Given the description of an element on the screen output the (x, y) to click on. 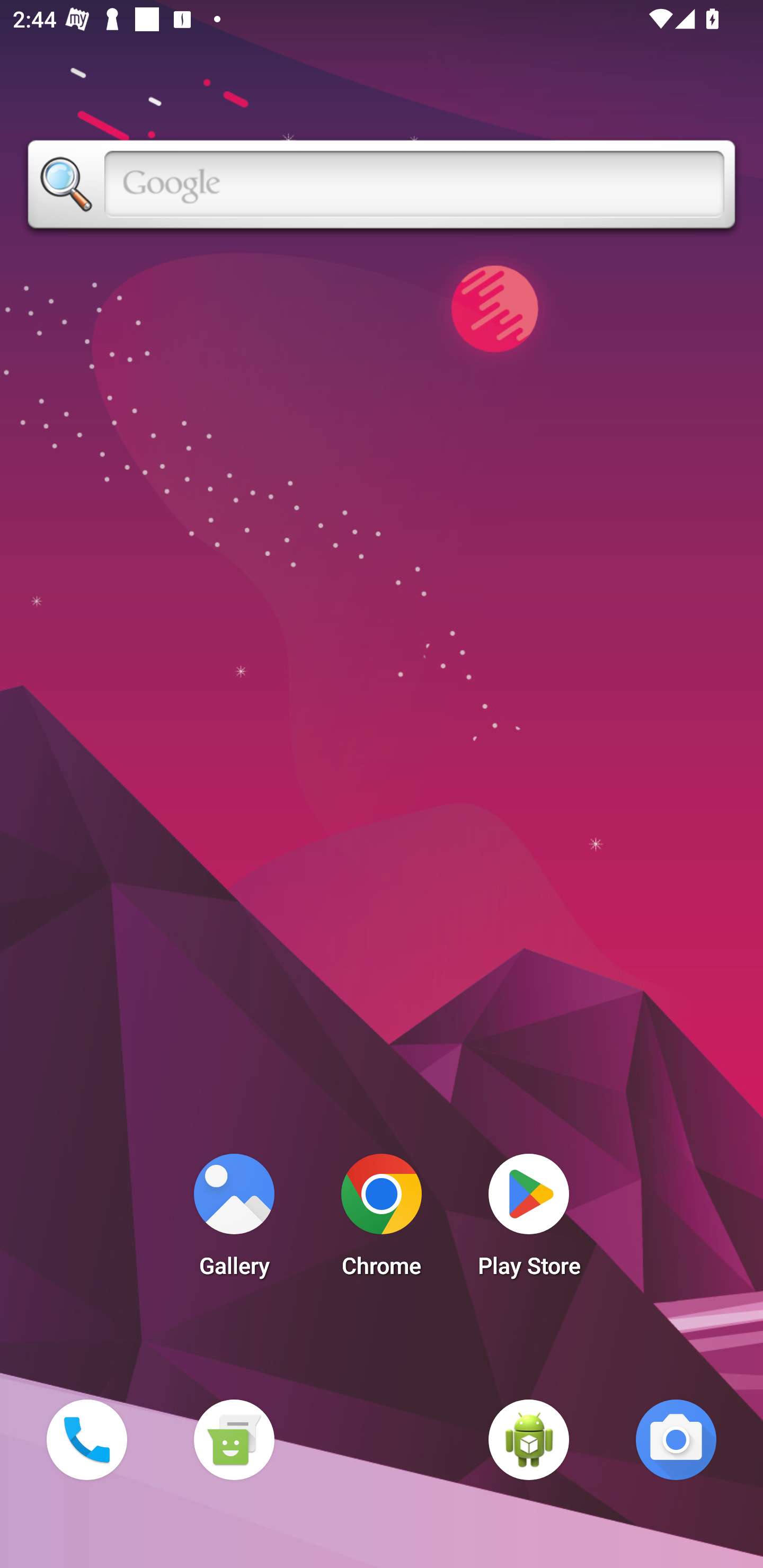
Gallery (233, 1220)
Chrome (381, 1220)
Play Store (528, 1220)
Phone (86, 1439)
Messaging (233, 1439)
WebView Browser Tester (528, 1439)
Camera (676, 1439)
